Given the description of an element on the screen output the (x, y) to click on. 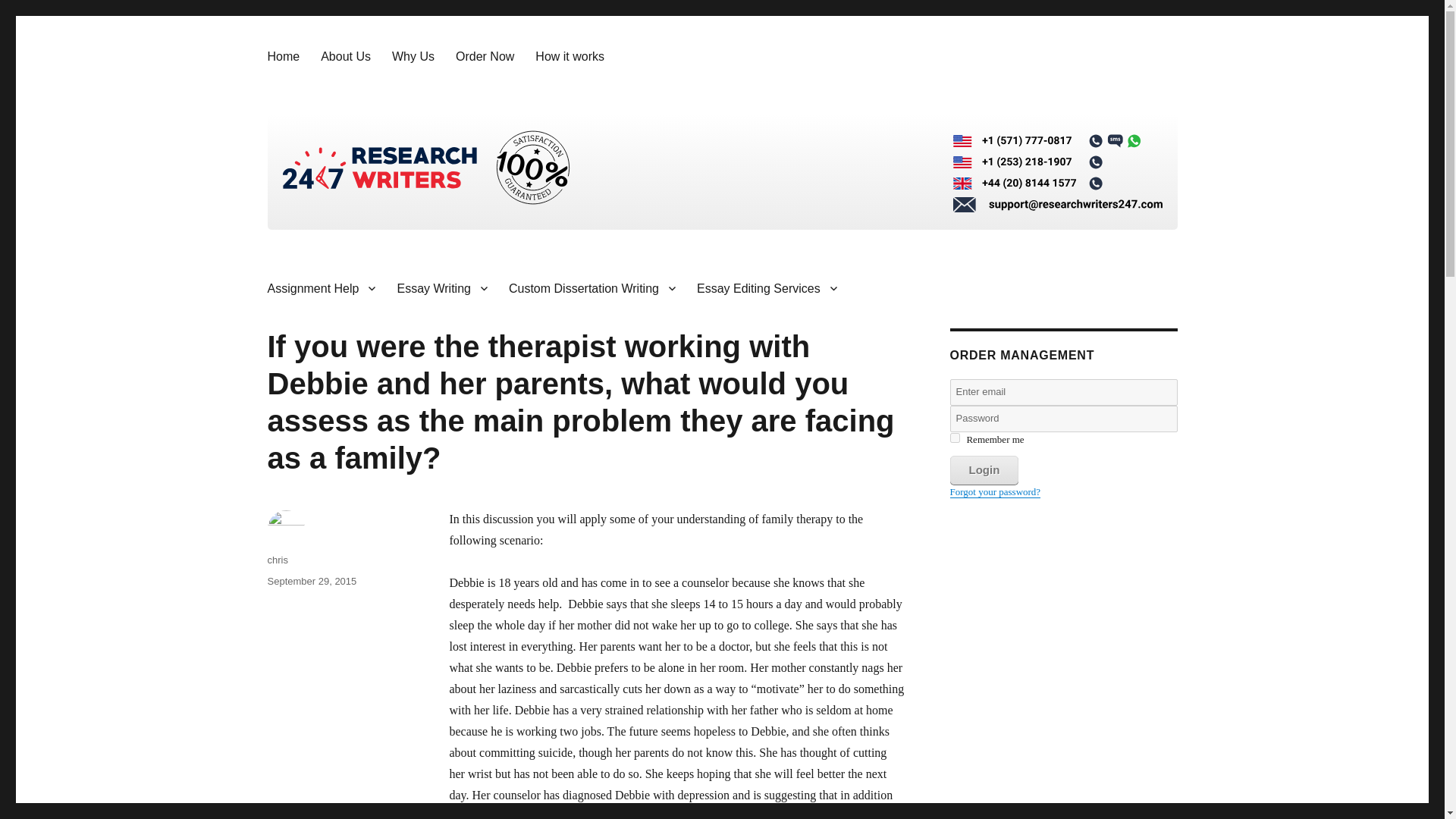
Essay Writing (441, 287)
Essay Editing Services (766, 287)
click to Login (983, 469)
Why Us (413, 56)
Custom Dissertation Writing (591, 287)
Assignment Help (320, 287)
How it works (569, 56)
Order Now (484, 56)
Home (283, 56)
Recover password (995, 491)
